Given the description of an element on the screen output the (x, y) to click on. 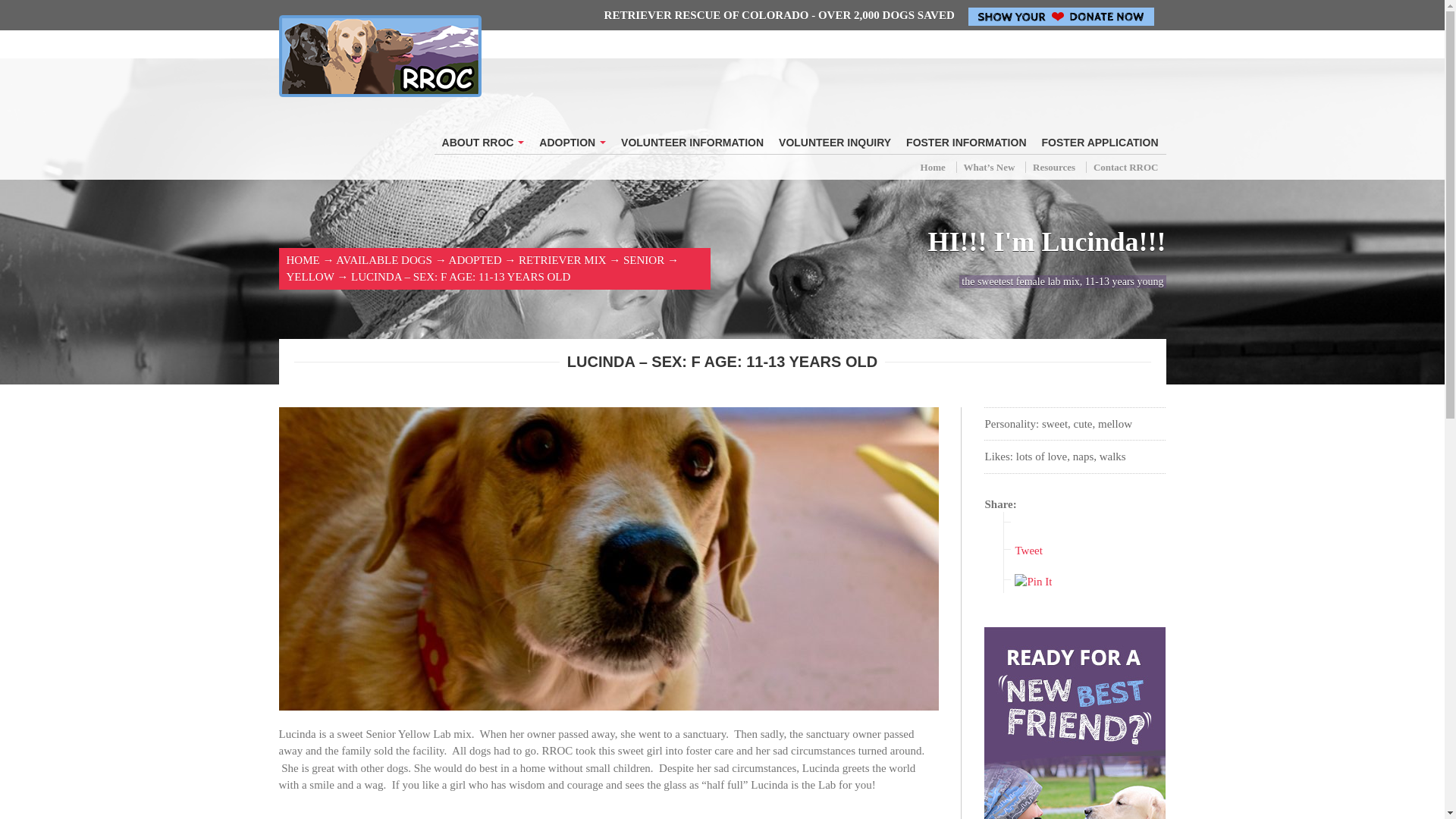
ABOUT RROC (482, 142)
SENIOR (643, 259)
RETRIEVER MIX (561, 259)
VOLUNTEER INQUIRY (834, 142)
AVAILABLE DOGS (384, 259)
ADOPTED (475, 259)
VOLUNTEER INFORMATION (691, 142)
YELLOW (310, 276)
Tweet (1028, 550)
Contact RROC (1126, 166)
